Given the description of an element on the screen output the (x, y) to click on. 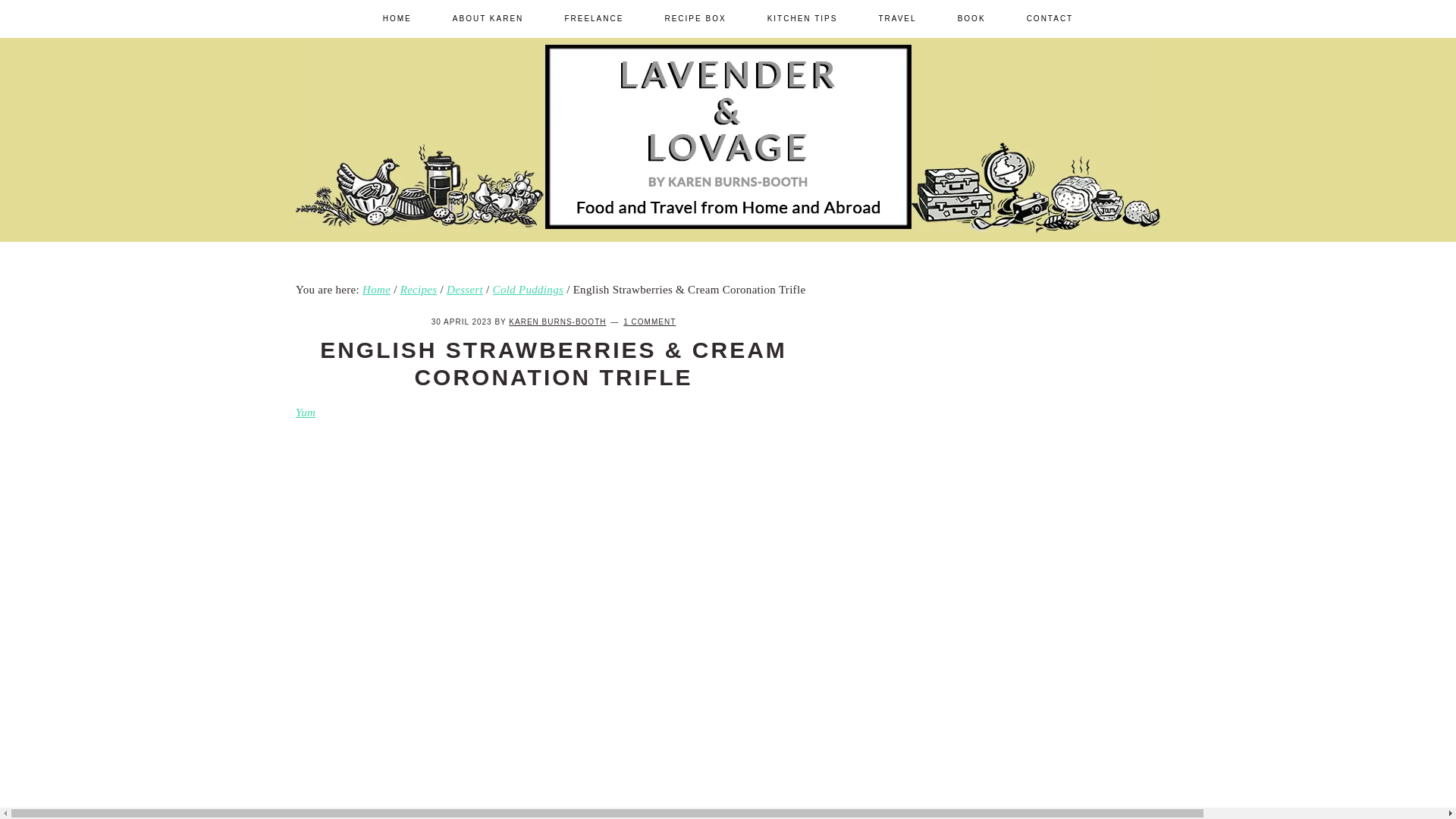
ABOUT KAREN (488, 18)
CONTACT (1050, 18)
Dessert (464, 289)
LAVENDER AND LOVAGE (1022, 254)
HOME (397, 18)
KAREN BURNS-BOOTH (556, 321)
Cold Puddings (528, 289)
KITCHEN TIPS (802, 18)
TRAVEL (896, 18)
Home (376, 289)
FREELANCE (593, 18)
RECIPE BOX (694, 18)
BOOK (971, 18)
Recipes (419, 289)
